Given the description of an element on the screen output the (x, y) to click on. 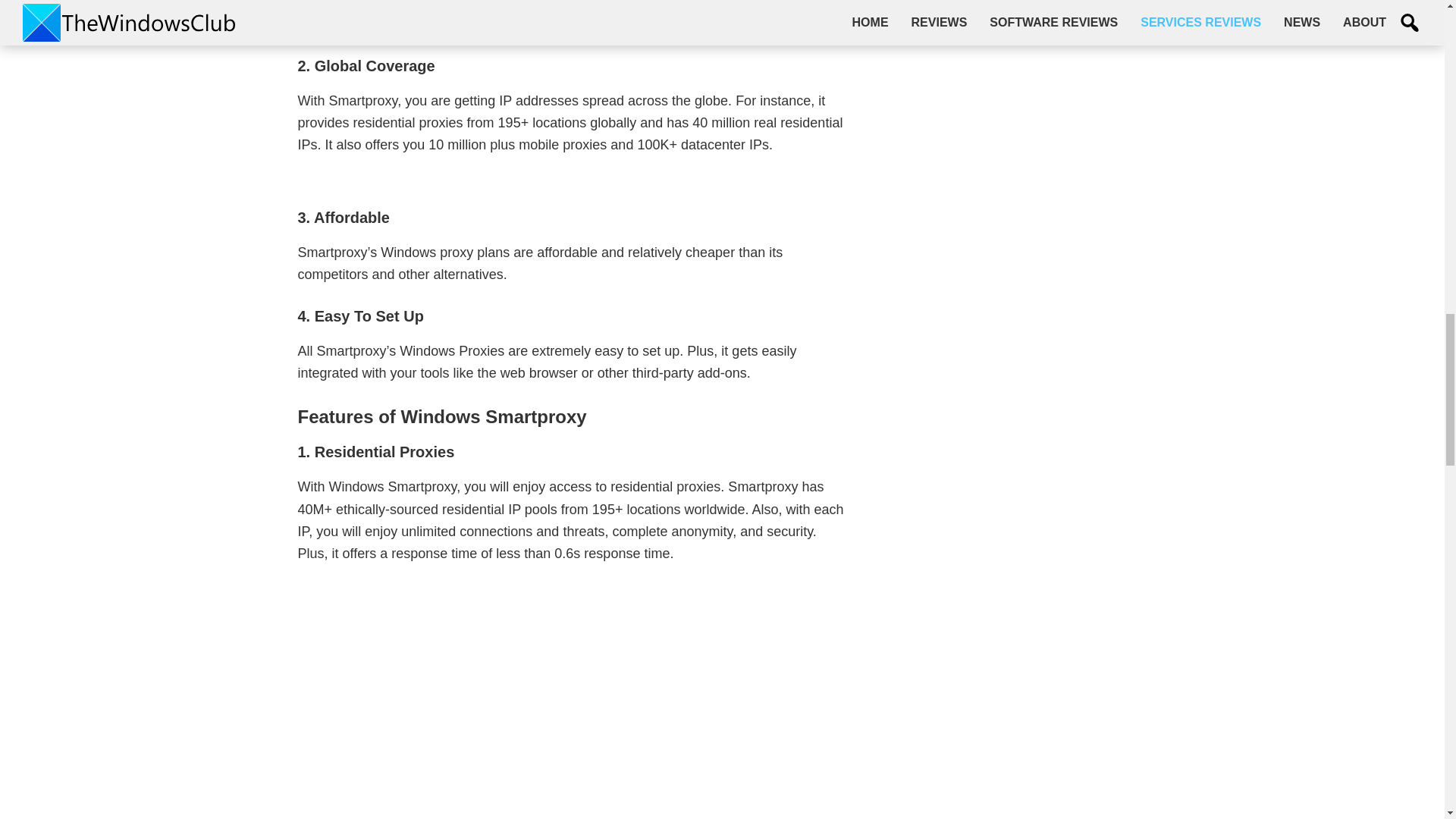
Residential Proxy Windows (572, 702)
